Given the description of an element on the screen output the (x, y) to click on. 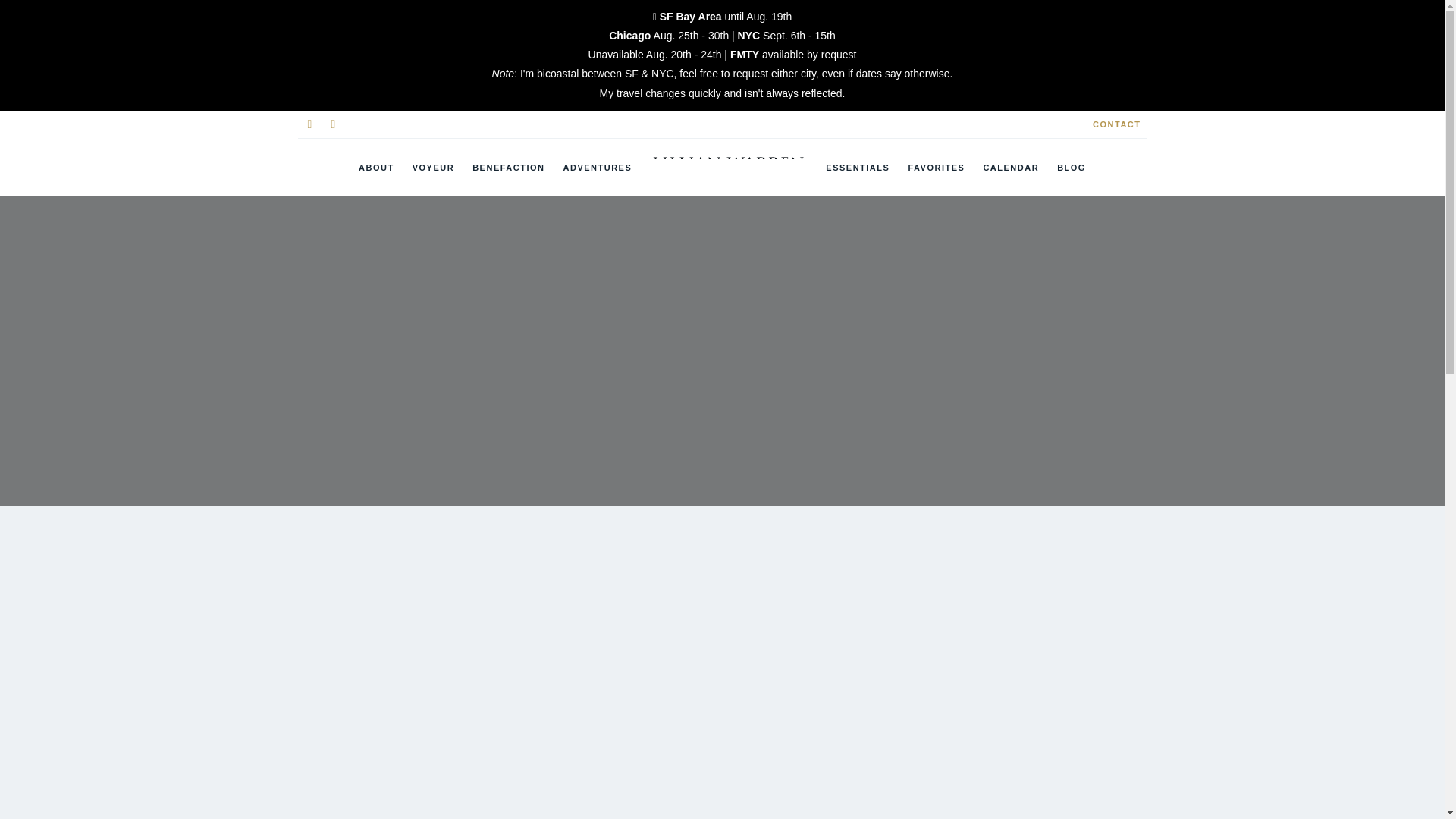
BENEFACTION (507, 166)
ESSENTIALS (857, 166)
FAVORITES (936, 166)
ADVENTURES (596, 166)
VOYEUR (433, 166)
BLOG (1071, 166)
CONTACT (1116, 124)
ABOUT (376, 166)
CALENDAR (1010, 166)
